Given the description of an element on the screen output the (x, y) to click on. 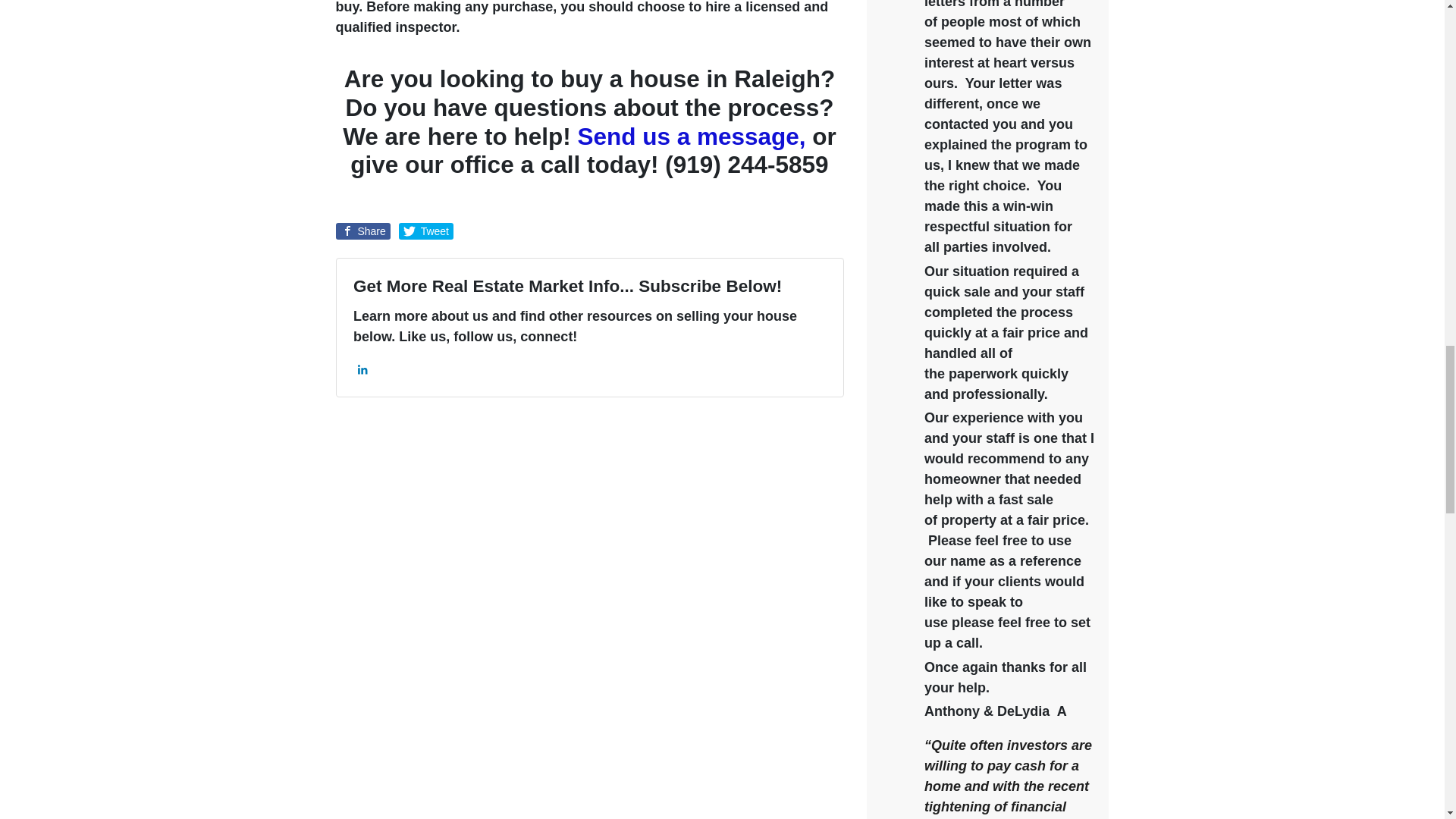
Send us a message, (690, 135)
Share (362, 230)
LinkedIn (362, 370)
Tweet (425, 230)
Share on Facebook (362, 230)
Share on Twitter (425, 230)
